Given the description of an element on the screen output the (x, y) to click on. 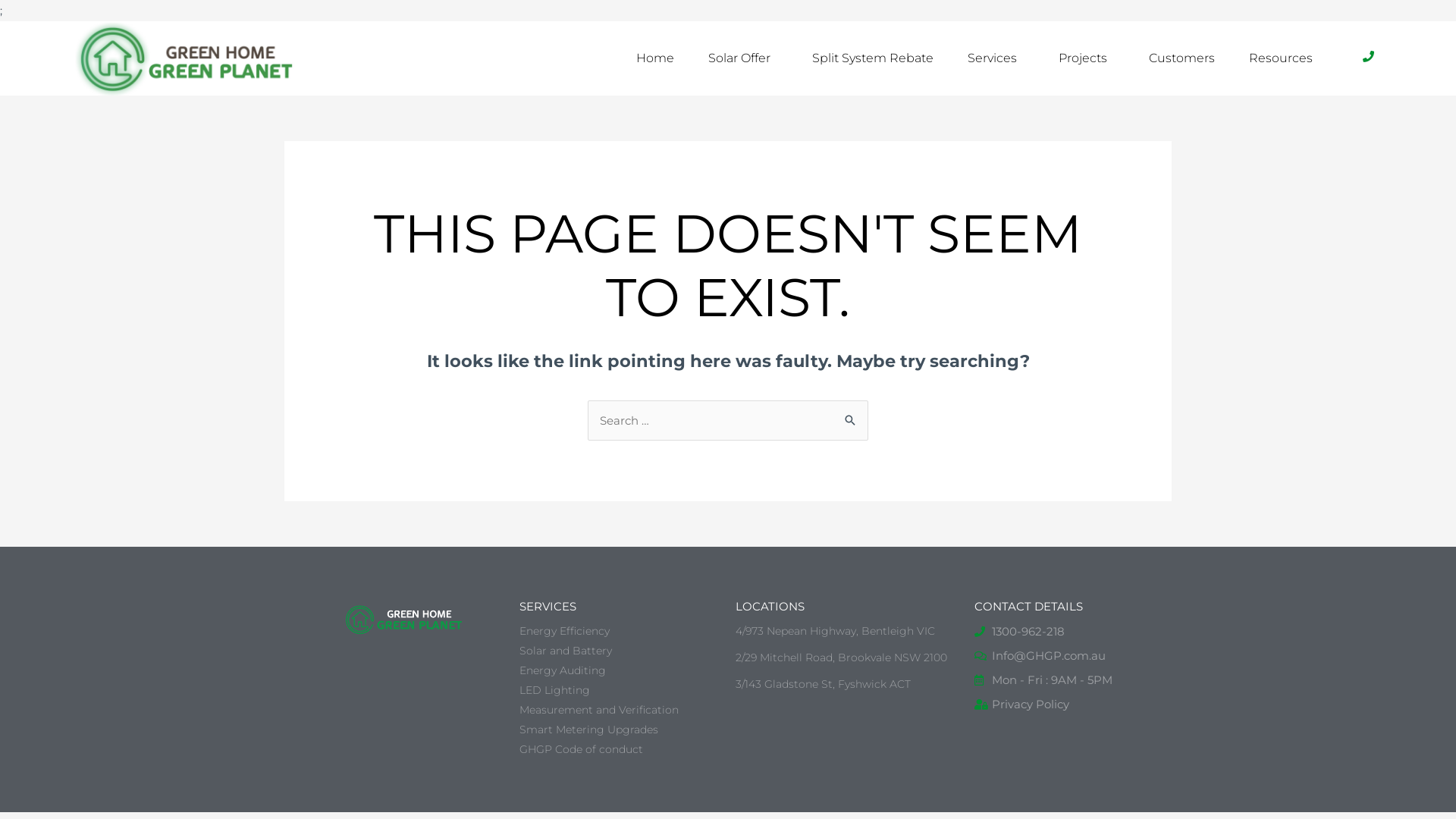
GHGP Code of conduct Element type: text (619, 749)
Smart Metering Upgrades Element type: text (619, 729)
LED Lighting Element type: text (619, 689)
Services Element type: text (995, 57)
Energy Auditing Element type: text (619, 670)
Projects Element type: text (1086, 57)
Search Element type: text (851, 415)
Solar and Battery Element type: text (619, 650)
Measurement and Verification Element type: text (619, 709)
Resources Element type: text (1284, 57)
Customers Element type: text (1181, 57)
Solar Offer Element type: text (743, 57)
Energy Efficiency Element type: text (619, 630)
Split System Rebate Element type: text (872, 57)
Home Element type: text (655, 57)
Privacy Policy Element type: text (1063, 704)
